Given the description of an element on the screen output the (x, y) to click on. 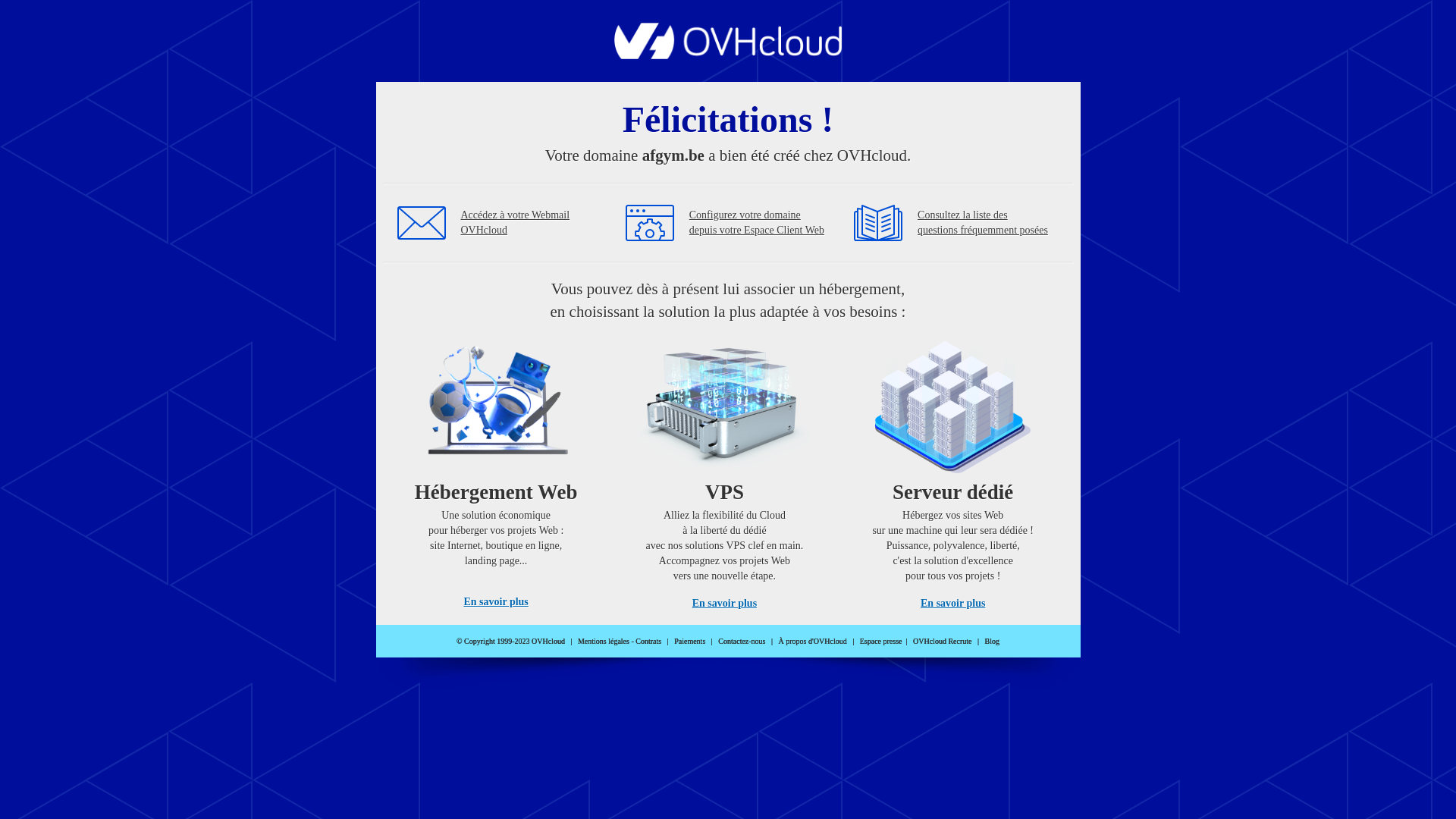
Espace presse Element type: text (880, 641)
Blog Element type: text (992, 641)
OVHcloud Element type: hover (727, 54)
En savoir plus Element type: text (724, 602)
Contactez-nous Element type: text (741, 641)
En savoir plus Element type: text (495, 601)
En savoir plus Element type: text (952, 602)
OVHcloud Recrute Element type: text (942, 641)
Configurez votre domaine
depuis votre Espace Client Web Element type: text (756, 222)
Paiements Element type: text (689, 641)
VPS Element type: hover (724, 469)
